Given the description of an element on the screen output the (x, y) to click on. 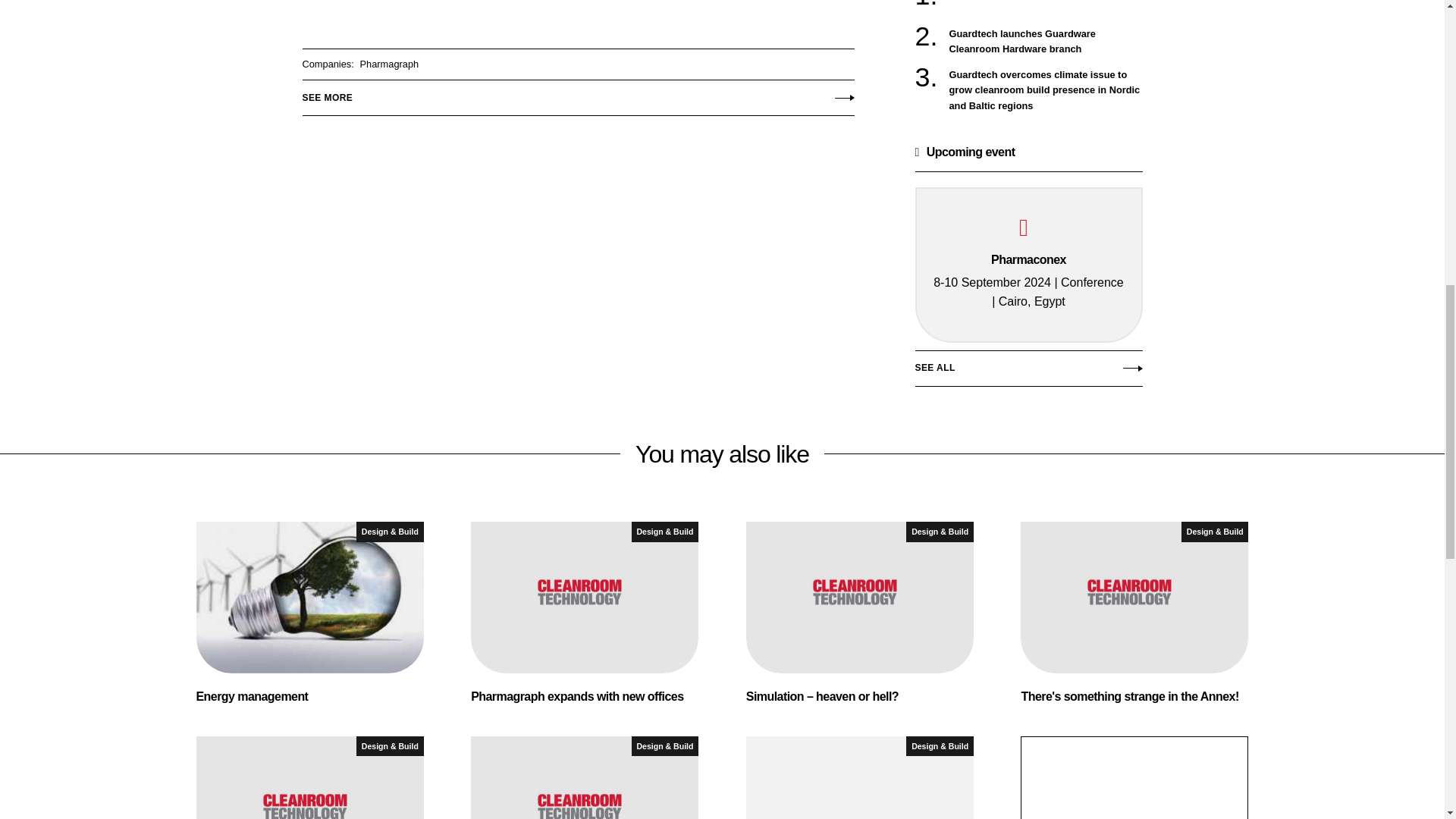
SEE MORE (577, 93)
Guardtech launches Guardware Cleanroom Hardware branch (1045, 41)
